Given the description of an element on the screen output the (x, y) to click on. 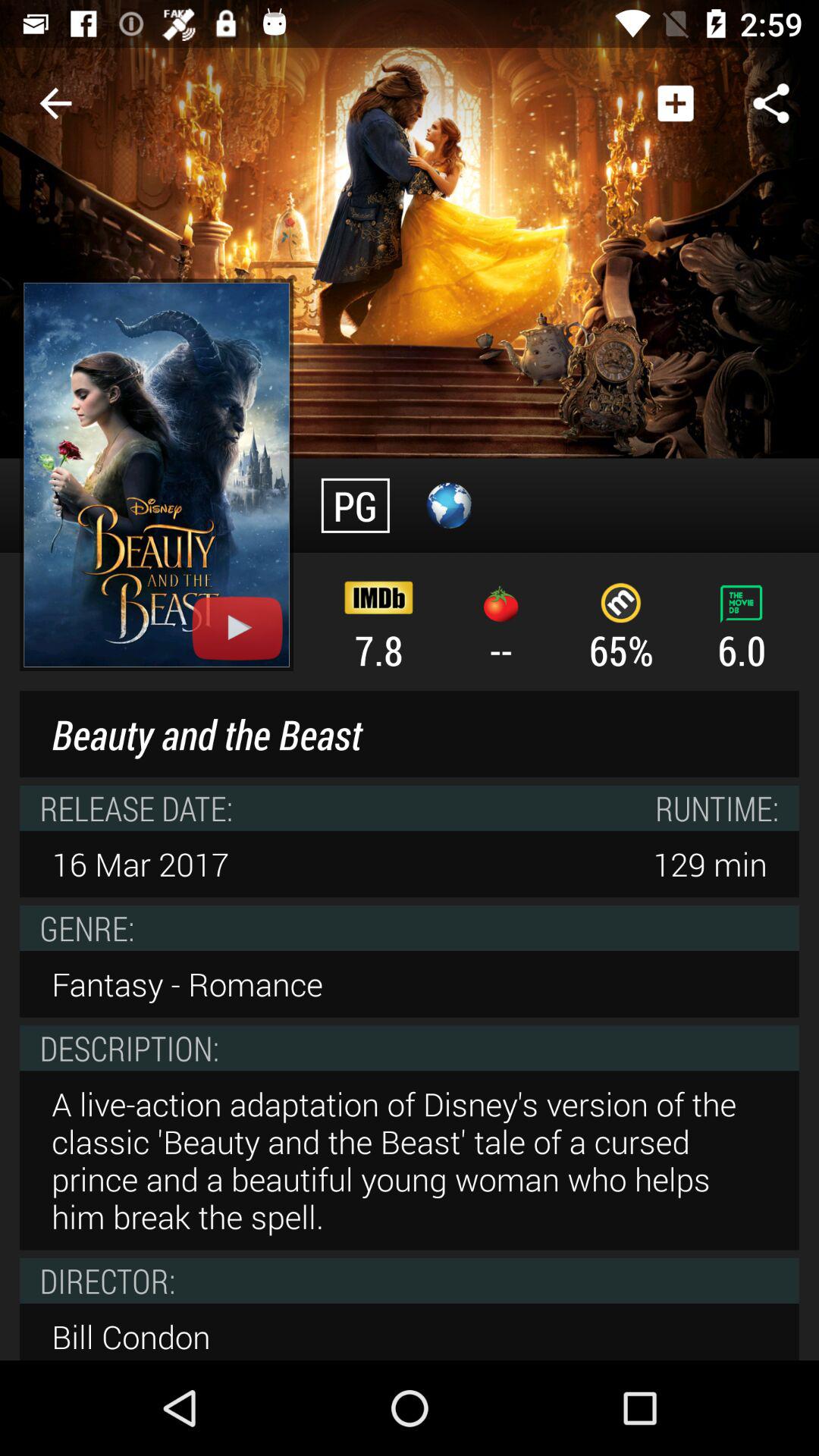
click on the share button at top right (771, 103)
go to option below pg (378, 624)
click the youtube symbol (156, 474)
